Given the description of an element on the screen output the (x, y) to click on. 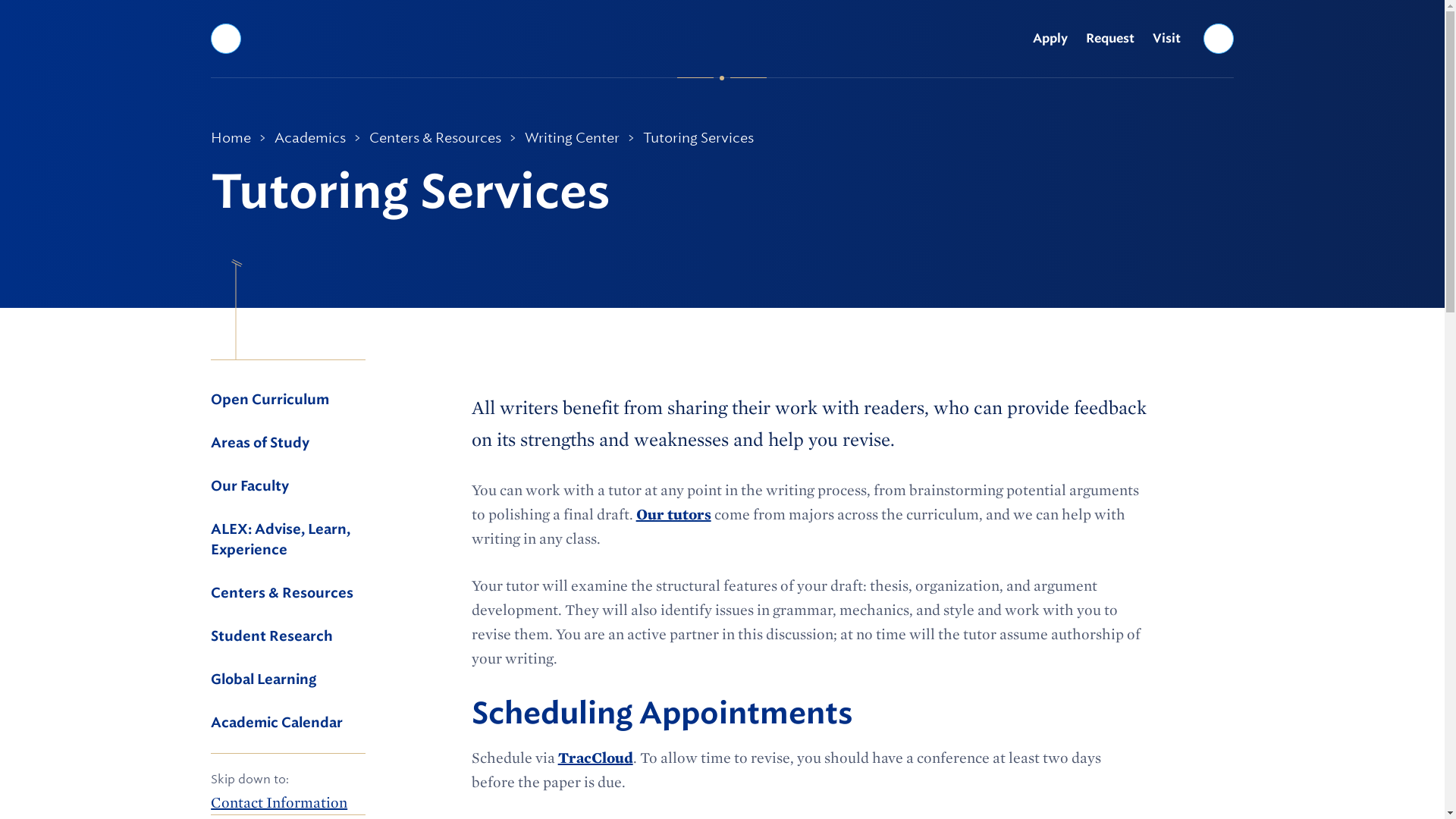
Home (231, 138)
Our Faculty (288, 487)
Global Learning (288, 680)
Student Research (288, 637)
Hamilton (721, 38)
Areas of Study (288, 444)
ALEX: Advise, Learn, Experience (288, 540)
Request (1109, 38)
Open Curriculum (288, 400)
Writing Center (571, 138)
